Given the description of an element on the screen output the (x, y) to click on. 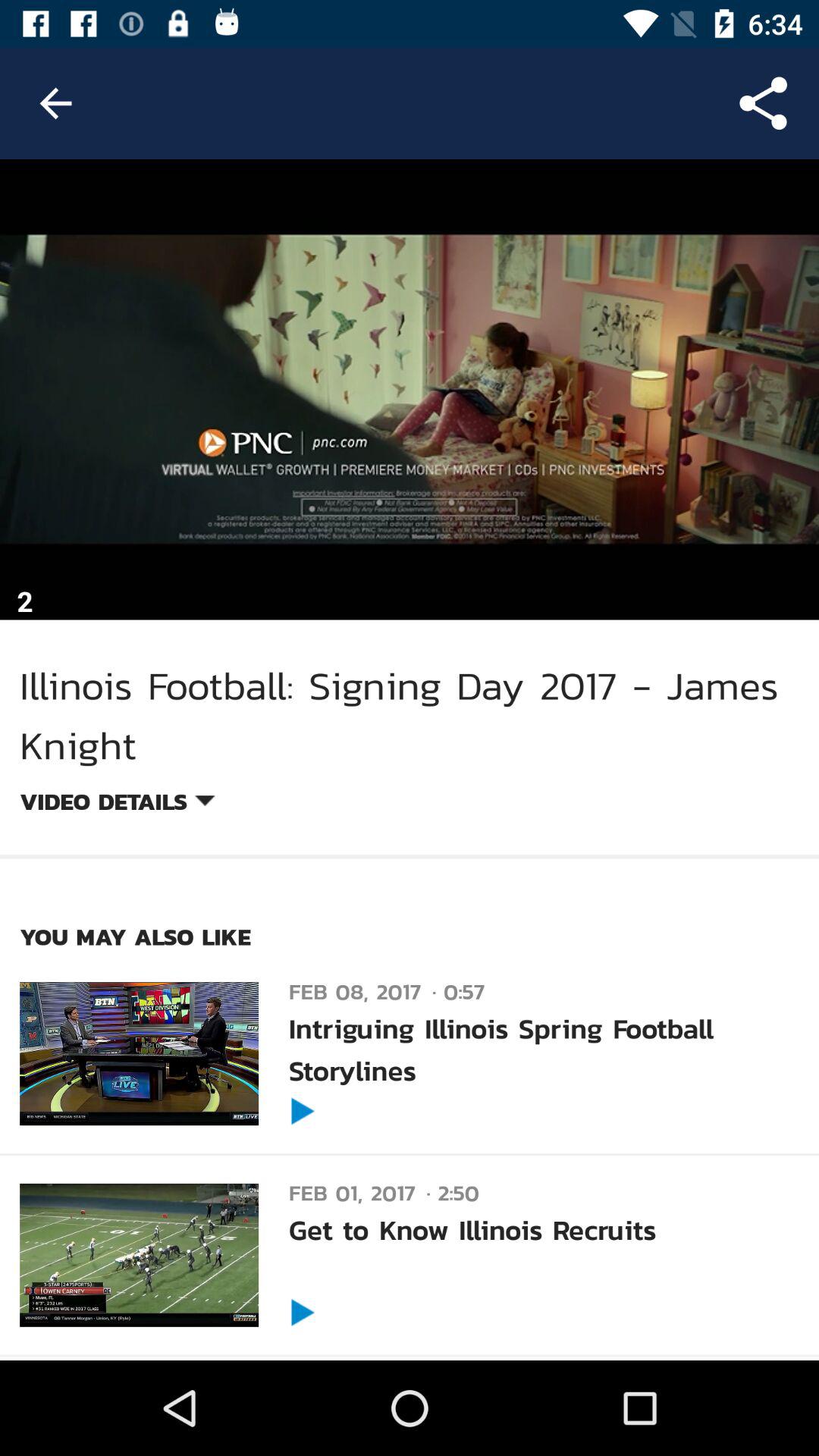
select icon at the top left corner (55, 103)
